Given the description of an element on the screen output the (x, y) to click on. 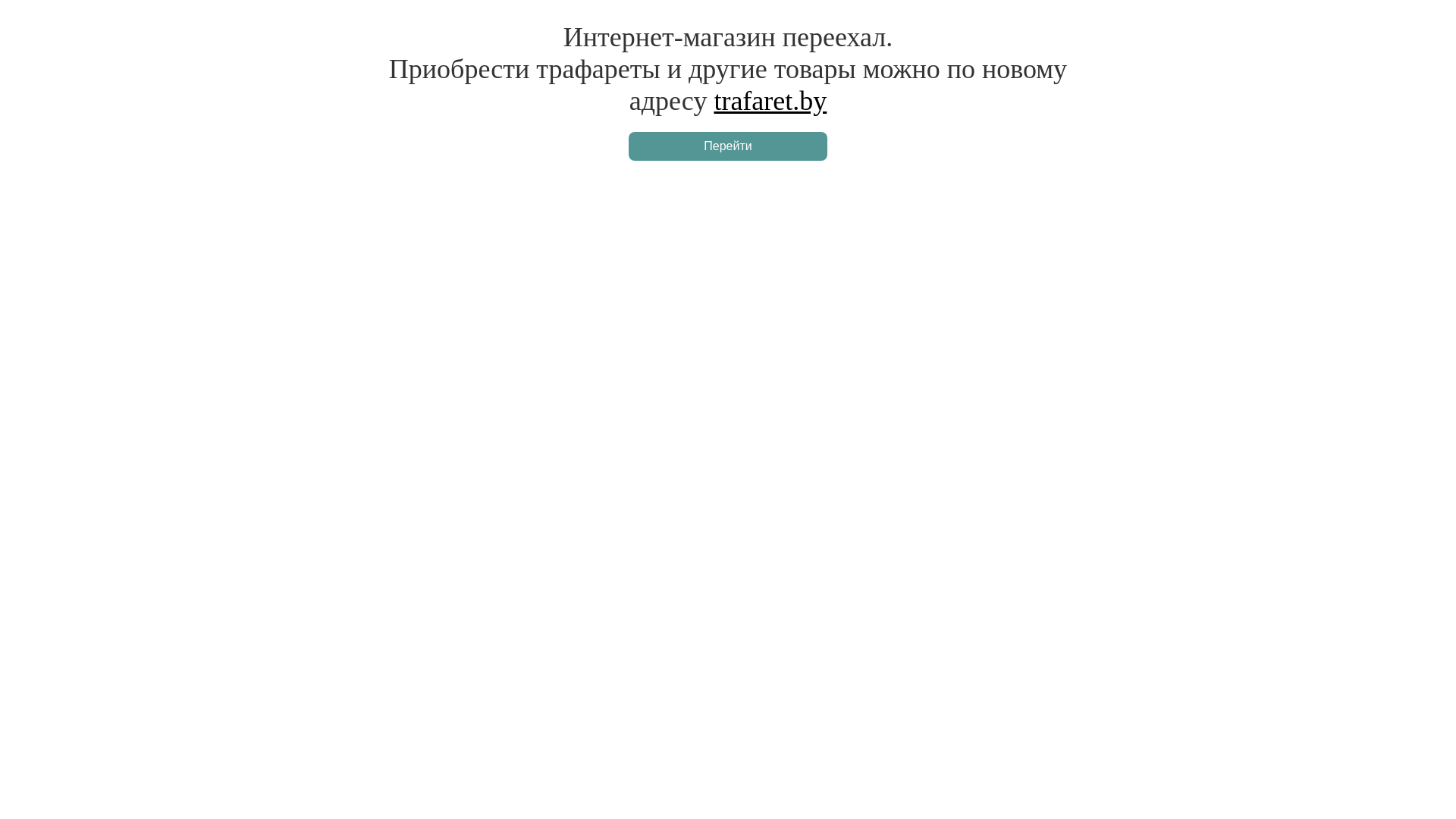
trafaret.by Element type: text (769, 100)
